Given the description of an element on the screen output the (x, y) to click on. 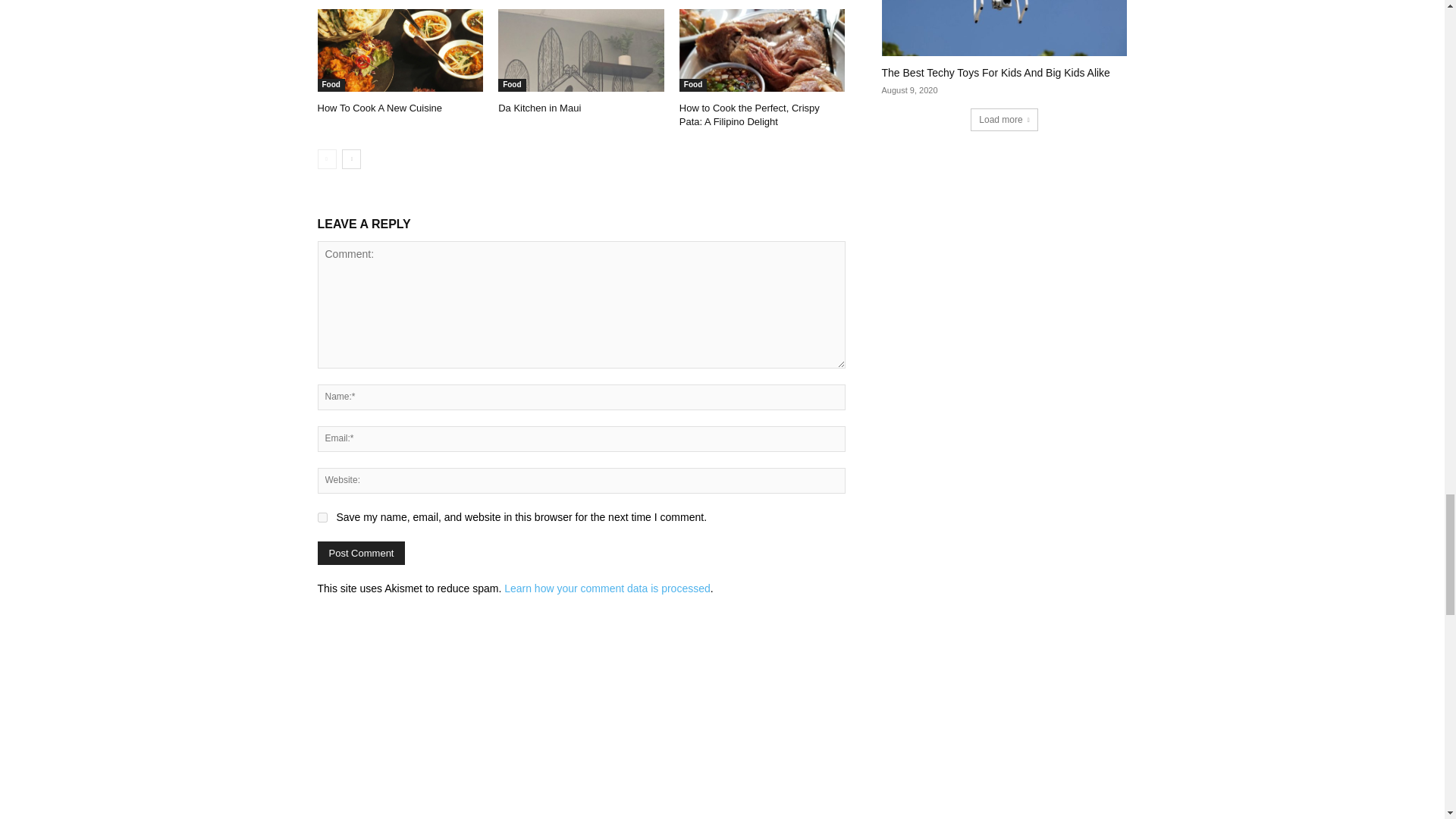
yes (321, 517)
Post Comment (360, 553)
